Given the description of an element on the screen output the (x, y) to click on. 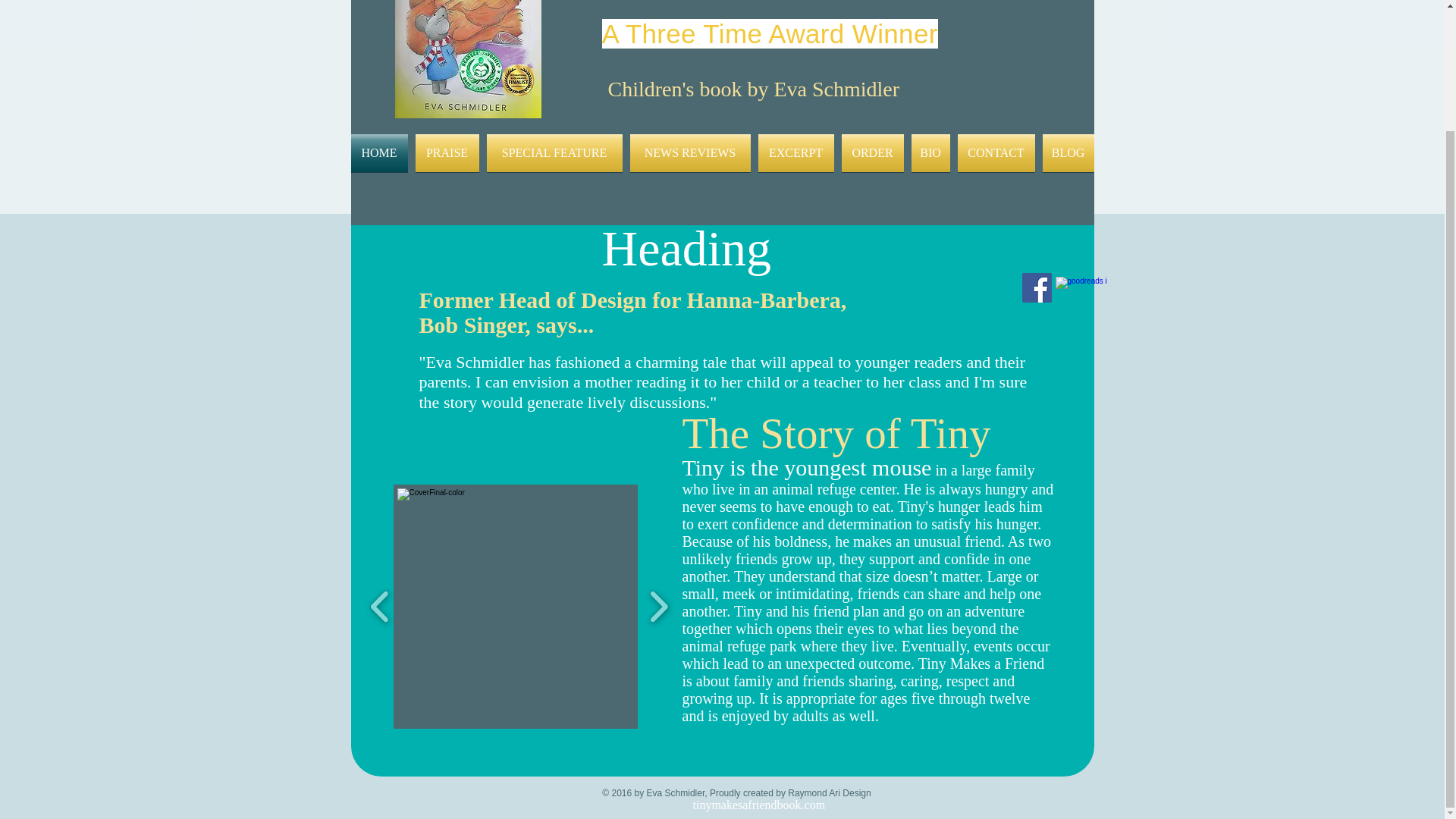
EXCERPT (795, 152)
HOME (380, 152)
SPECIAL FEATURE (553, 152)
a Friend (694, 2)
ORDER (872, 152)
BLOG (1066, 152)
Children's book by Eva Schmidler (753, 88)
NEWS REVIEWS (690, 152)
BIO (930, 152)
PRAISE (445, 152)
